Given the description of an element on the screen output the (x, y) to click on. 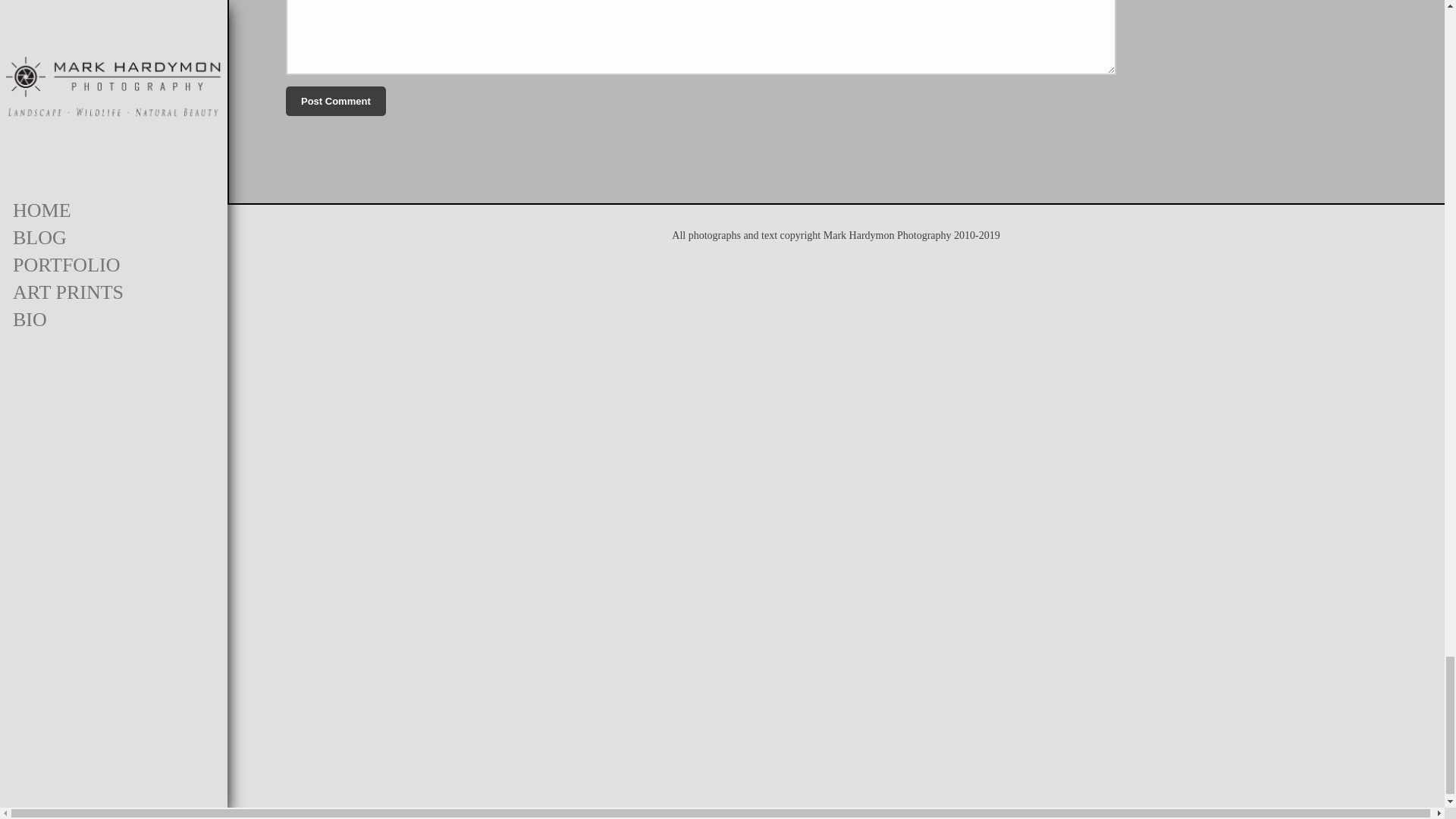
Post Comment (335, 101)
Post Comment (335, 101)
